Given the description of an element on the screen output the (x, y) to click on. 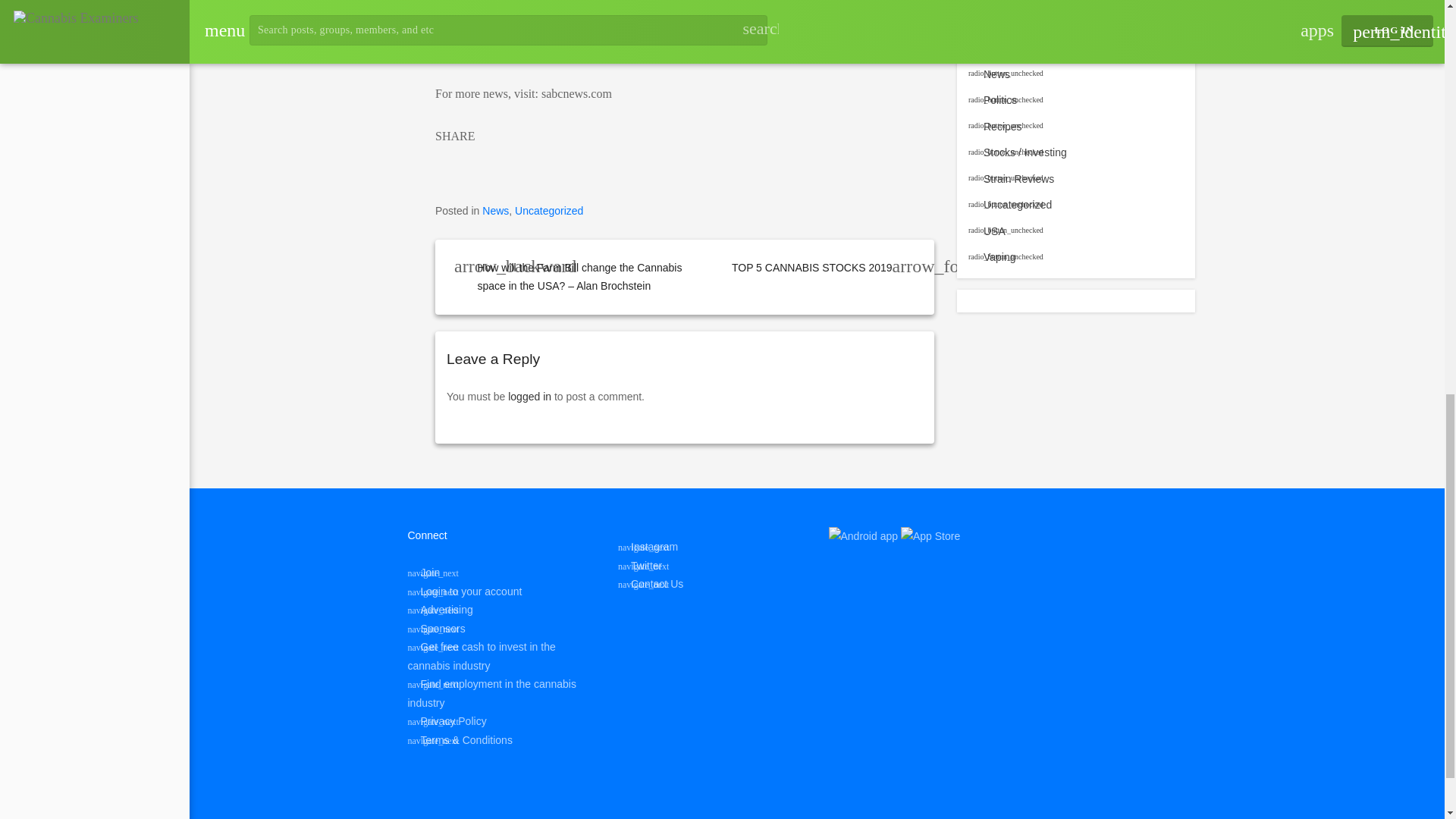
Share on Facebook (447, 163)
Share on Twitter (479, 163)
Share on LinkedIn (511, 163)
Share on Reddit (576, 163)
